Given the description of an element on the screen output the (x, y) to click on. 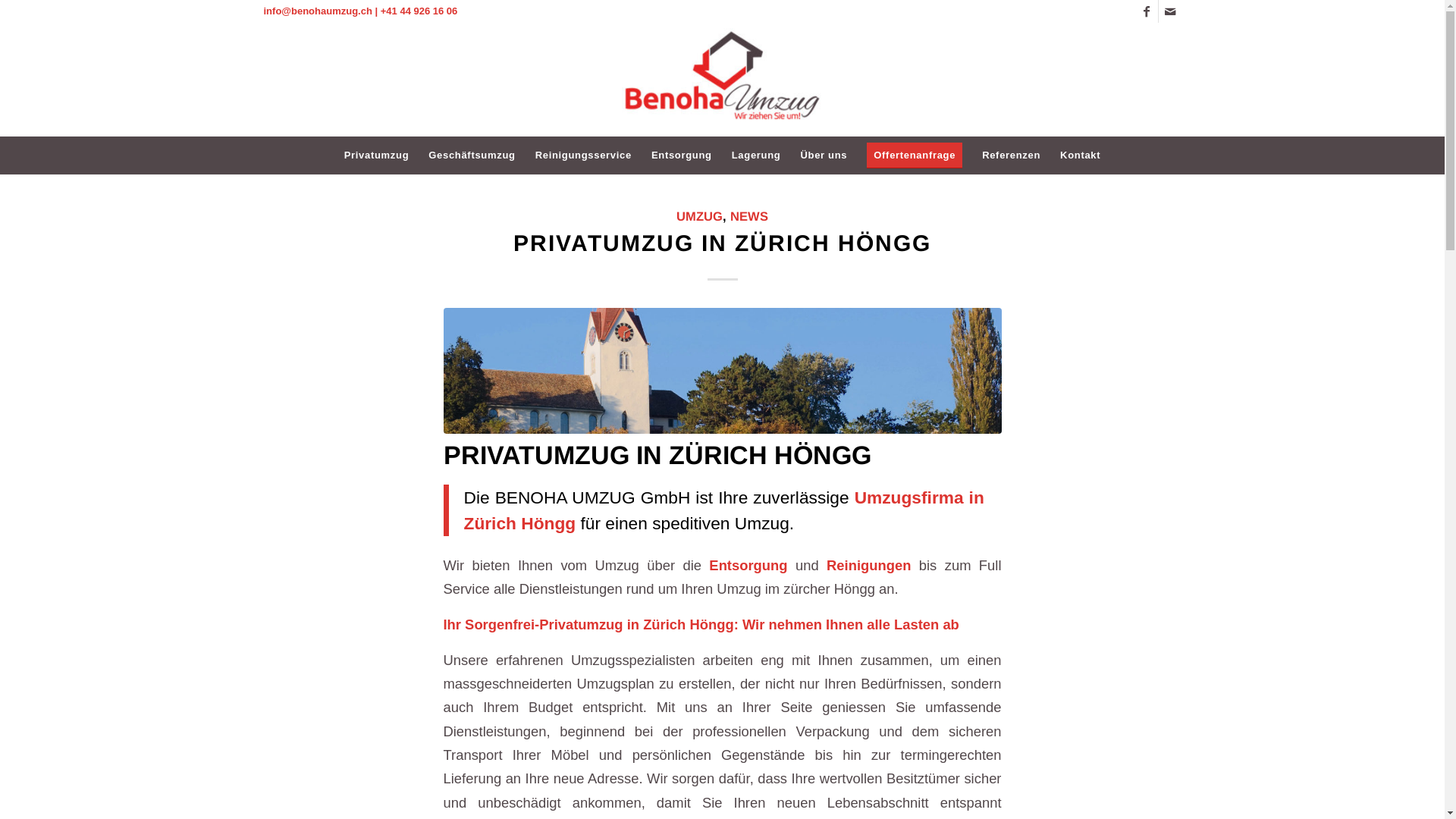
NEWS Element type: text (749, 216)
Privatumzug Element type: text (376, 155)
Reinigungen Element type: text (868, 565)
Referenzen Element type: text (1011, 155)
Lagerung Element type: text (755, 155)
UMZUG Element type: text (699, 216)
Kontakt Element type: text (1080, 155)
Entsorgung Element type: text (748, 565)
Entsorgung Element type: text (681, 155)
Offertenanfrage Element type: text (914, 155)
Facebook Element type: hover (1146, 11)
Mail Element type: hover (1169, 11)
Reinigungsservice Element type: text (583, 155)
